Given the description of an element on the screen output the (x, y) to click on. 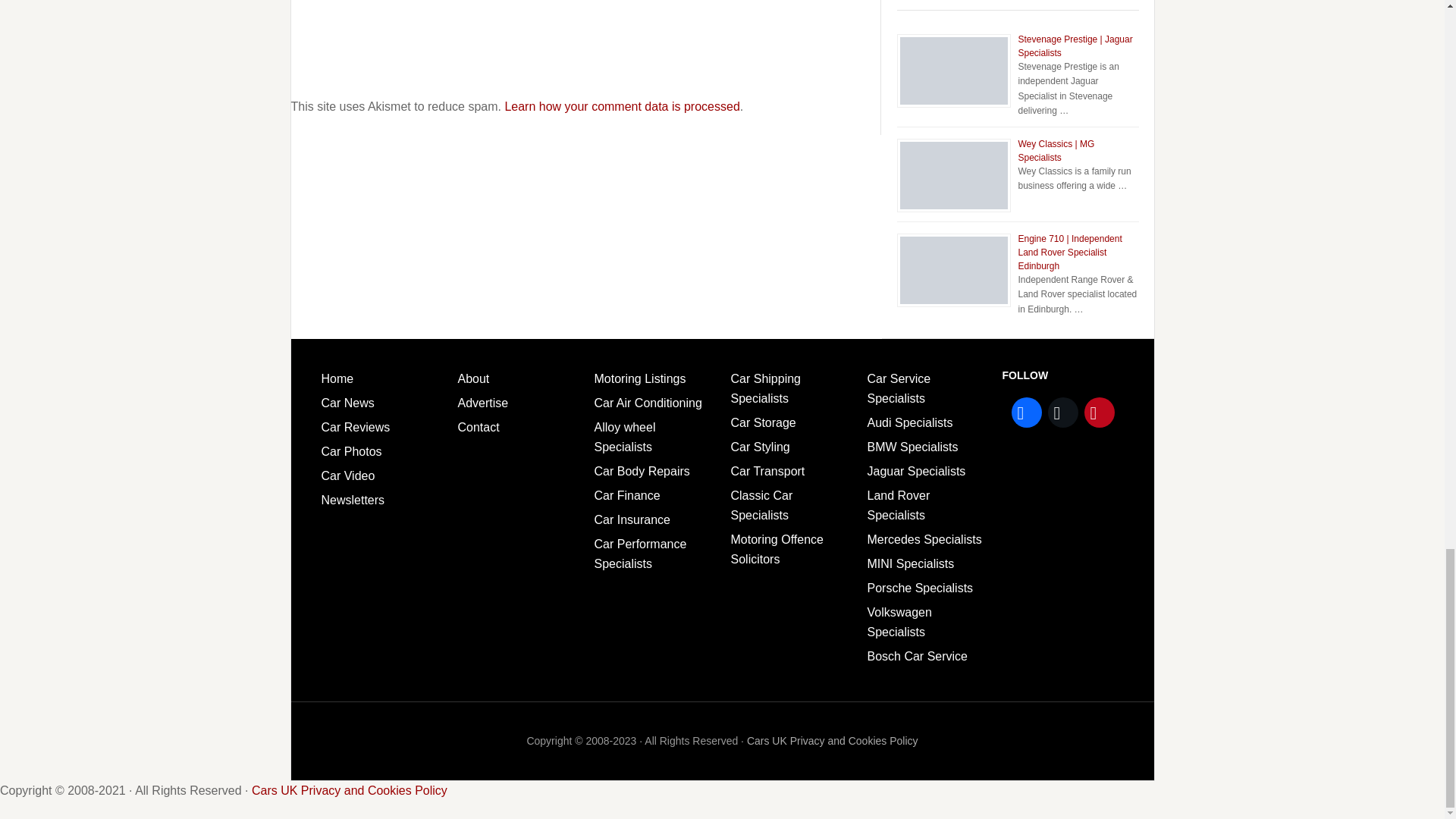
Comment Form (585, 41)
Learn how your comment data is processed (621, 106)
Facebook (1026, 412)
Facebook (1027, 411)
